Given the description of an element on the screen output the (x, y) to click on. 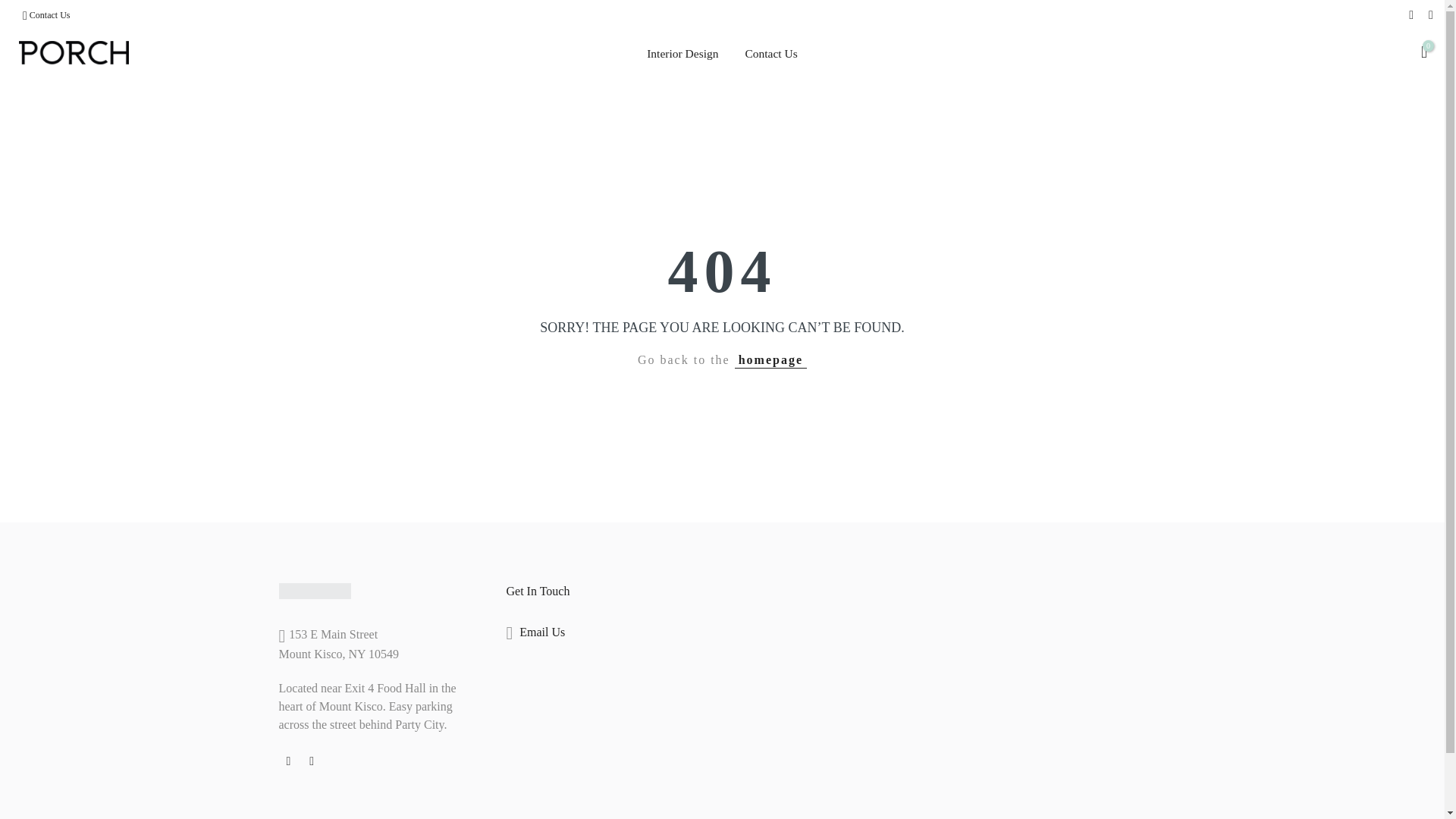
Contact Us (49, 14)
Interior Design (682, 53)
homepage (770, 360)
Contact Us (771, 53)
Email Us (541, 631)
